Given the description of an element on the screen output the (x, y) to click on. 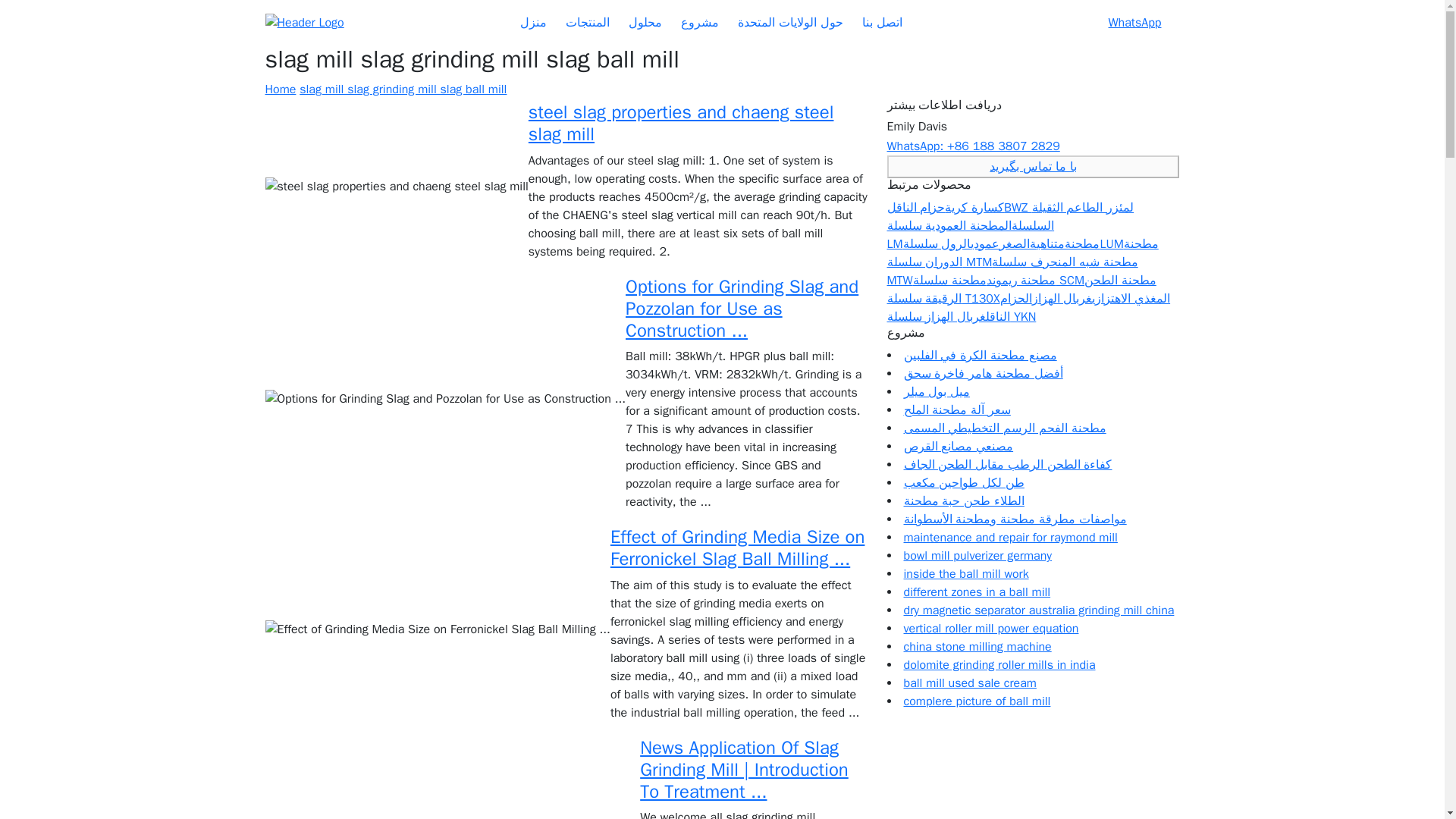
slag mill slag grinding mill slag ball mill (402, 89)
Home (280, 89)
steel slag properties and chaeng steel slag mill (681, 122)
WhatsApp (1134, 22)
